Given the description of an element on the screen output the (x, y) to click on. 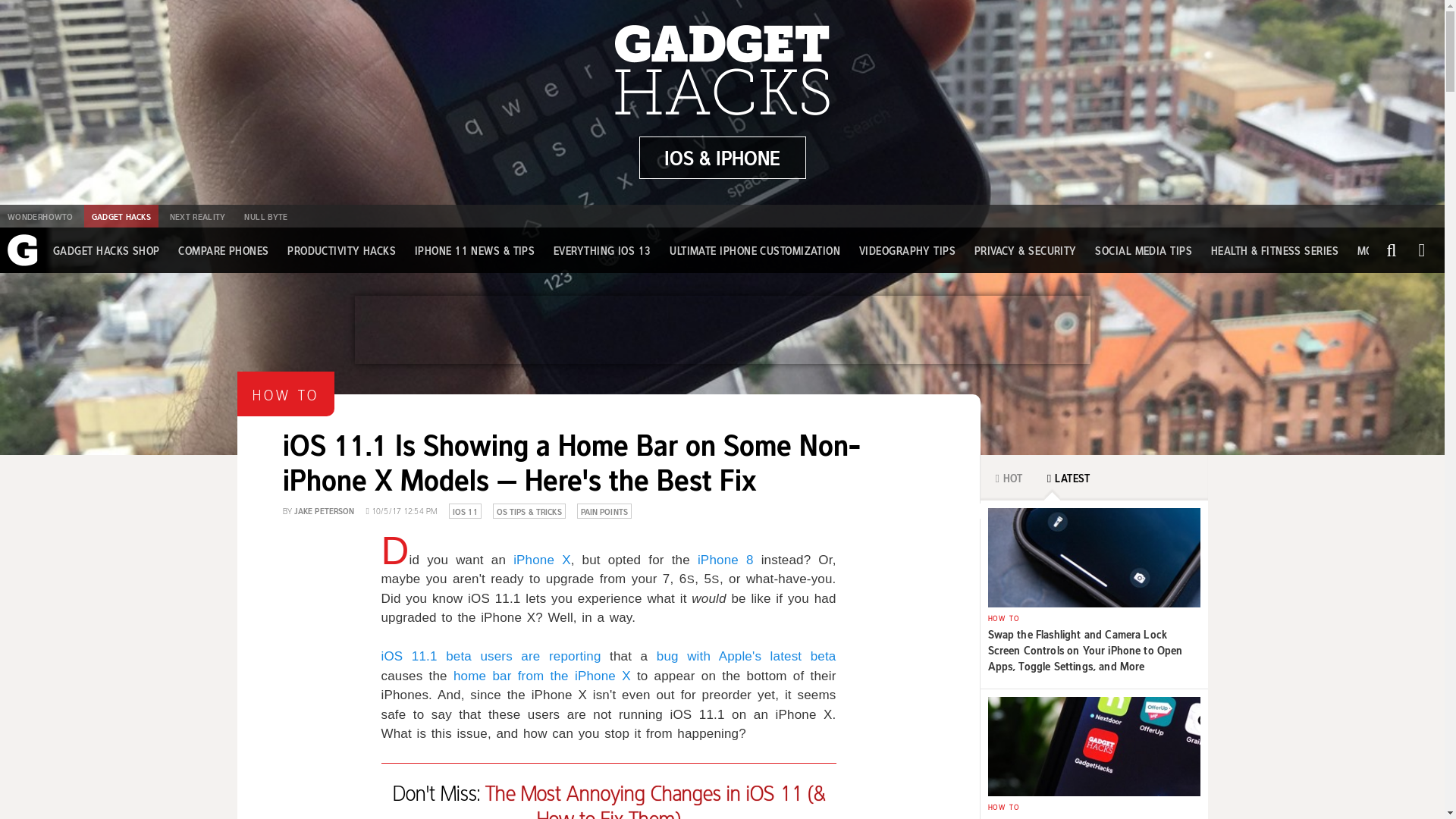
GADGET HACKS (121, 215)
NEXT REALITY (196, 215)
COMPARE PHONES (222, 249)
JAKE PETERSON (324, 509)
WONDERHOWTO (40, 215)
iPhone 8 (725, 559)
iPhone X (541, 559)
SOCIAL MEDIA TIPS (1143, 249)
iOS 11.1 beta users are reporting (489, 656)
ULTIMATE IPHONE CUSTOMIZATION (754, 249)
